Given the description of an element on the screen output the (x, y) to click on. 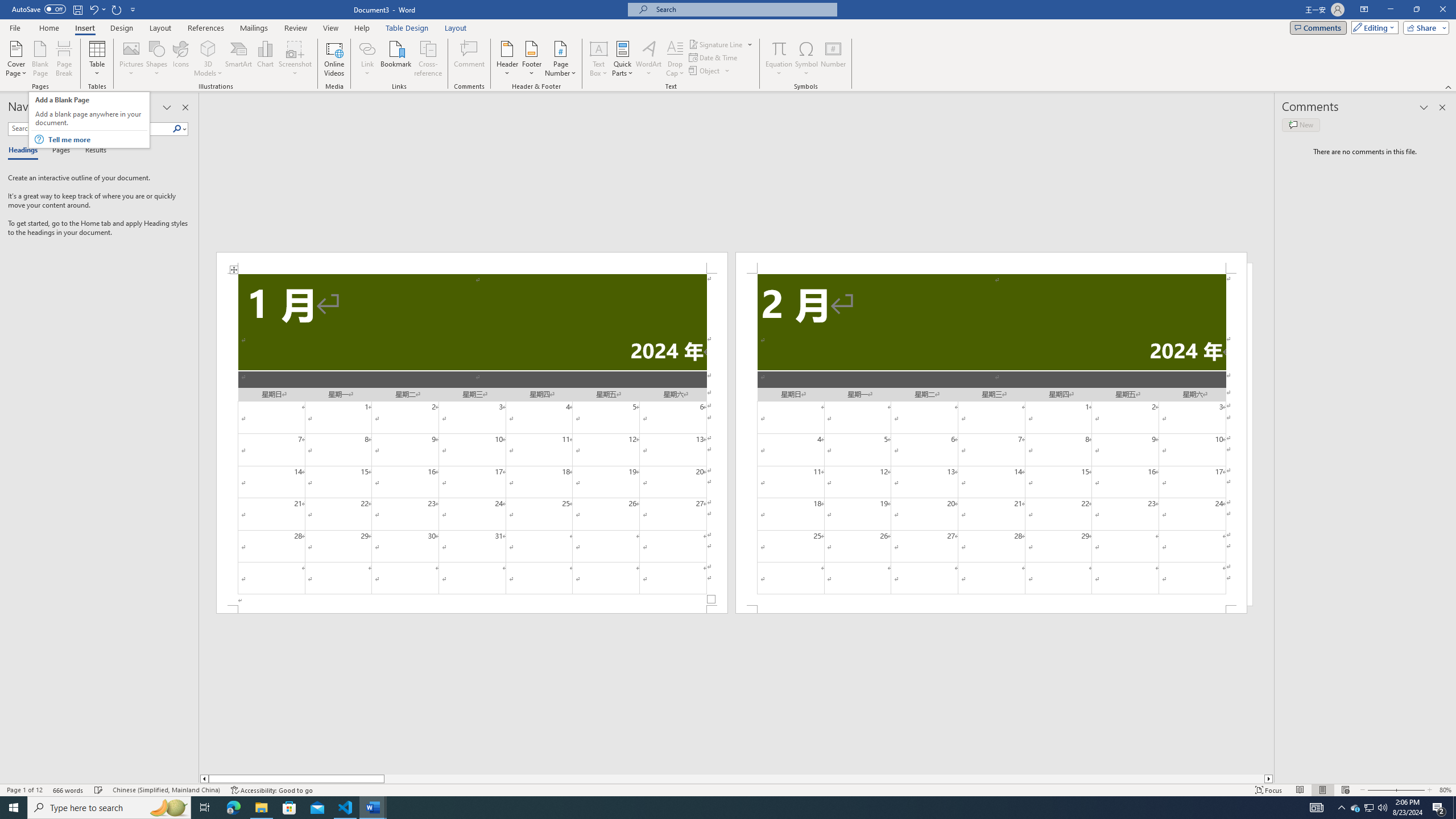
Header (507, 58)
Column right (1268, 778)
Signature Line (716, 44)
Bookmark... (396, 58)
Chart... (265, 58)
Pictures (131, 58)
